Given the description of an element on the screen output the (x, y) to click on. 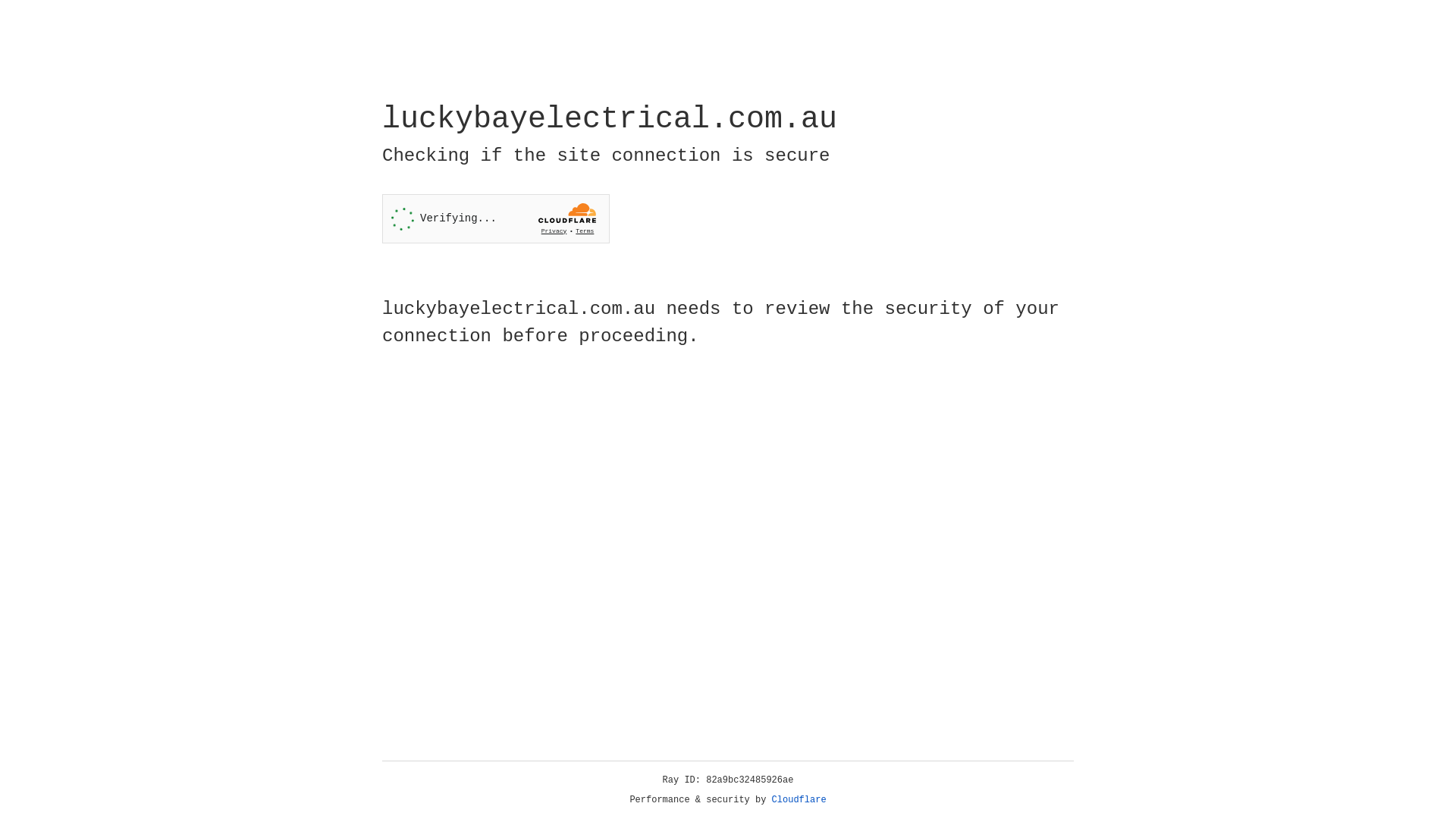
Widget containing a Cloudflare security challenge Element type: hover (495, 218)
Cloudflare Element type: text (798, 799)
